Given the description of an element on the screen output the (x, y) to click on. 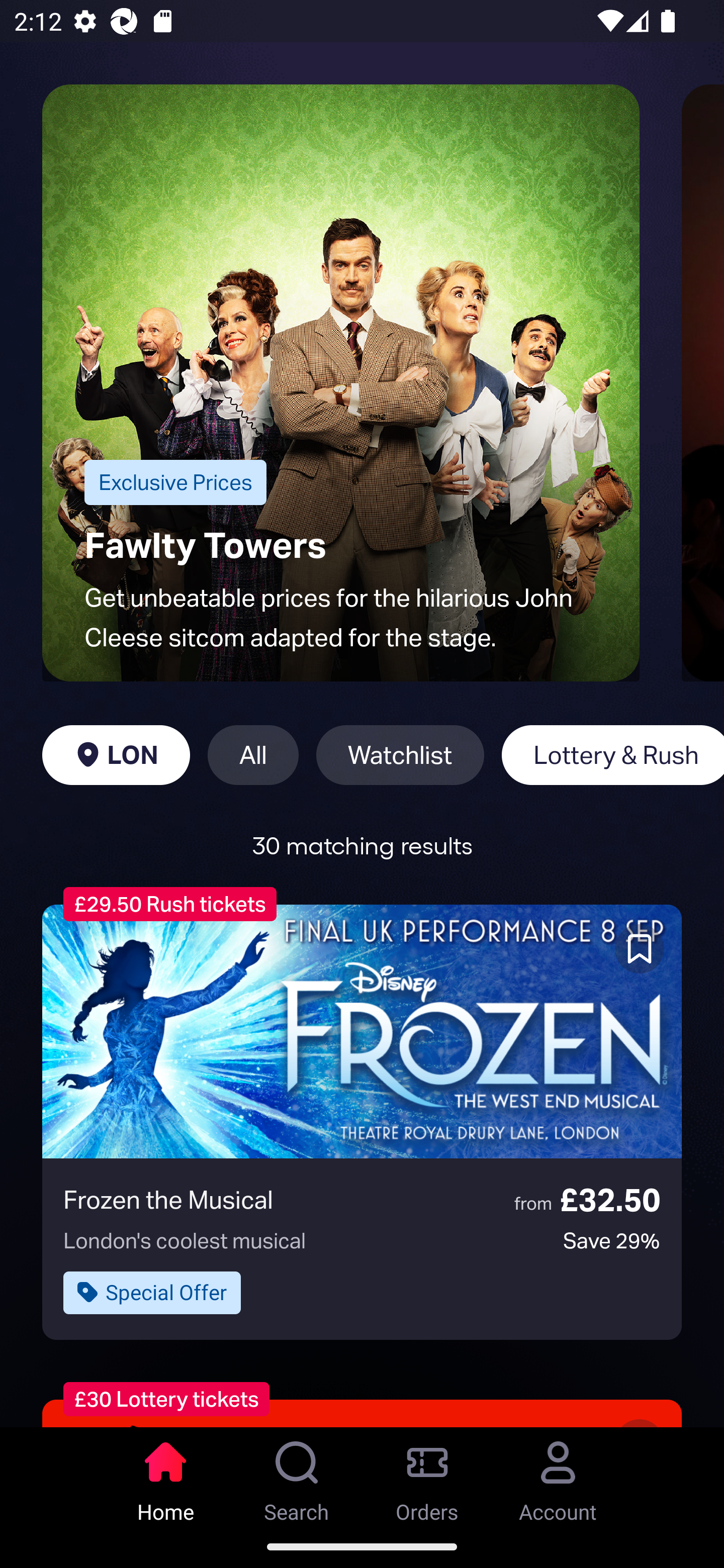
LON (115, 754)
All (252, 754)
Watchlist (400, 754)
Lottery & Rush (612, 754)
Search (296, 1475)
Orders (427, 1475)
Account (558, 1475)
